Given the description of an element on the screen output the (x, y) to click on. 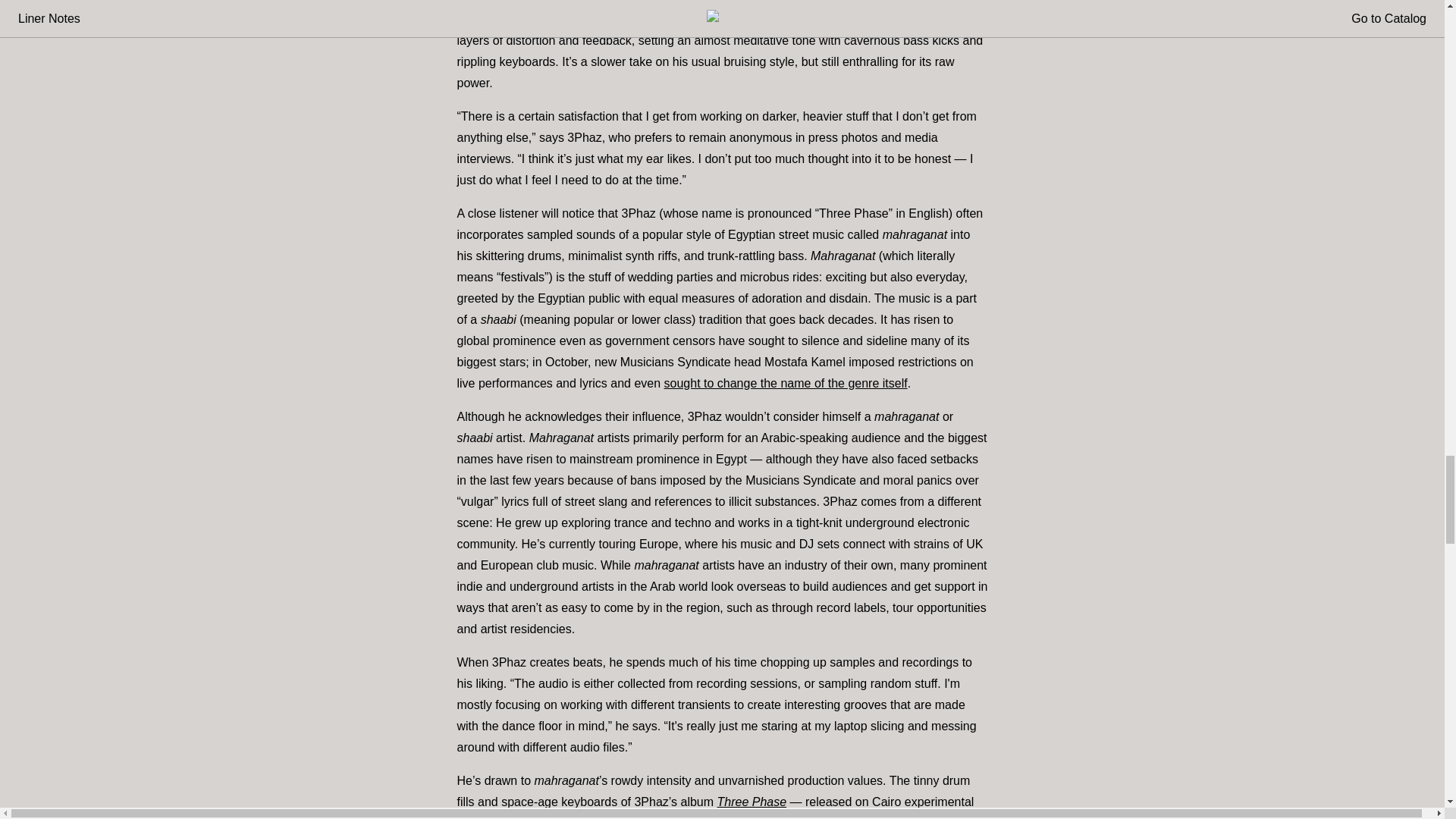
Red Signal (673, 19)
sought to change the name of the genre itself (785, 382)
Three Phase (752, 801)
frenzied street performances (802, 817)
